Given the description of an element on the screen output the (x, y) to click on. 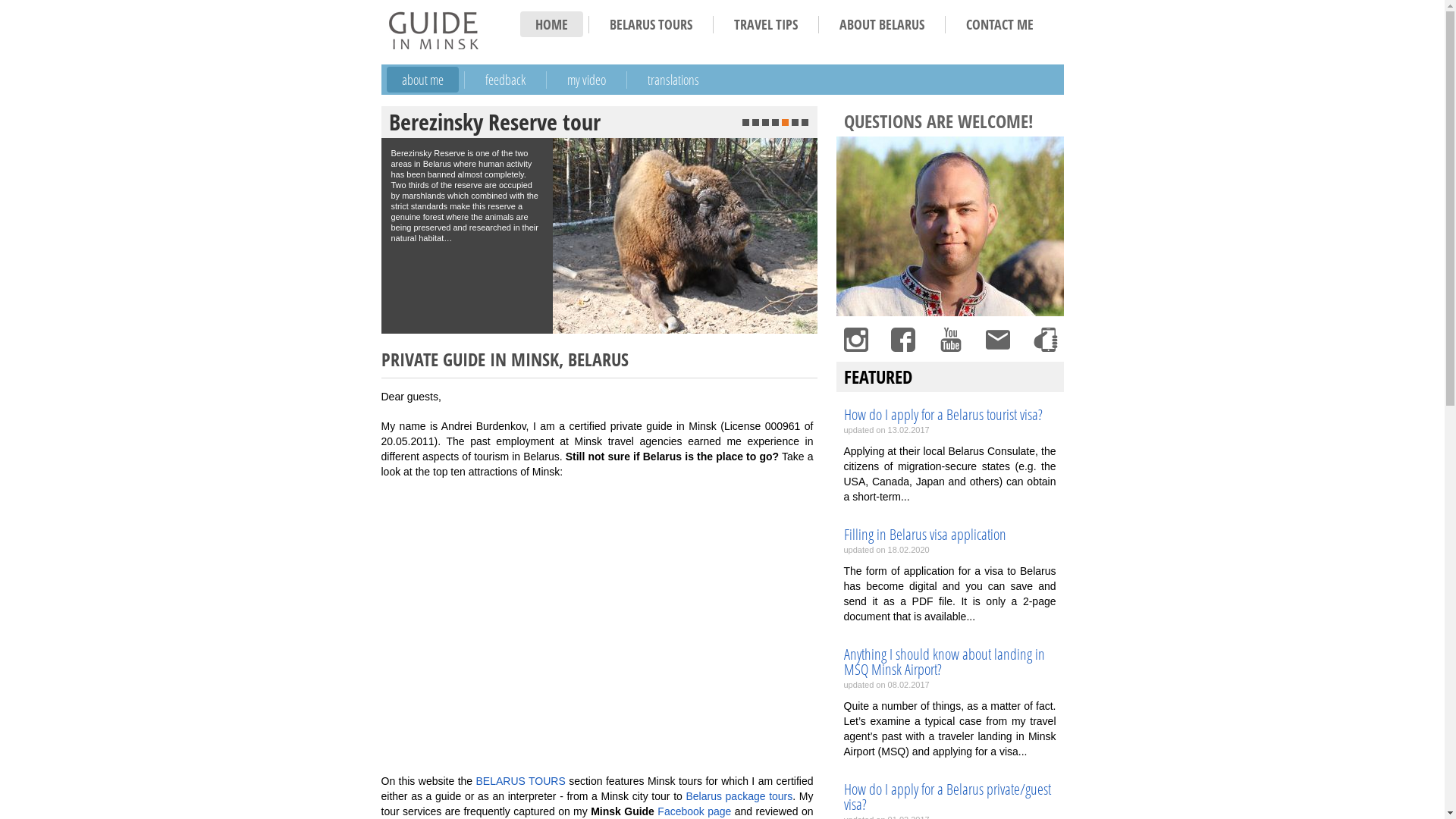
Filling in Belarus visa application Element type: text (949, 534)
Anything I should know about landing in MSQ Minsk Airport? Element type: text (949, 661)
TRAVEL TIPS Element type: text (765, 24)
HOME Element type: text (551, 24)
translations Element type: text (673, 79)
Visit my Youtube page Element type: hover (950, 339)
BELARUS TOURS Element type: text (520, 781)
about me Element type: text (422, 79)
Visit my Facebook page Element type: hover (902, 339)
Belarus package tours Element type: text (738, 796)
my video Element type: text (586, 79)
ABOUT BELARUS Element type: text (880, 24)
CONTACT ME Element type: text (999, 24)
feedback Element type: text (505, 79)
Facebook page Element type: text (694, 811)
BELARUS TOURS Element type: text (650, 24)
Visit my Instagram page Element type: hover (854, 339)
Drop me a message Element type: hover (997, 339)
Give me a call Element type: hover (1044, 339)
Private tours from a certified Minsk guide Element type: hover (432, 30)
How do I apply for a Belarus private/guest visa? Element type: text (949, 796)
How do I apply for a Belarus tourist visa? Element type: text (949, 414)
